Given the description of an element on the screen output the (x, y) to click on. 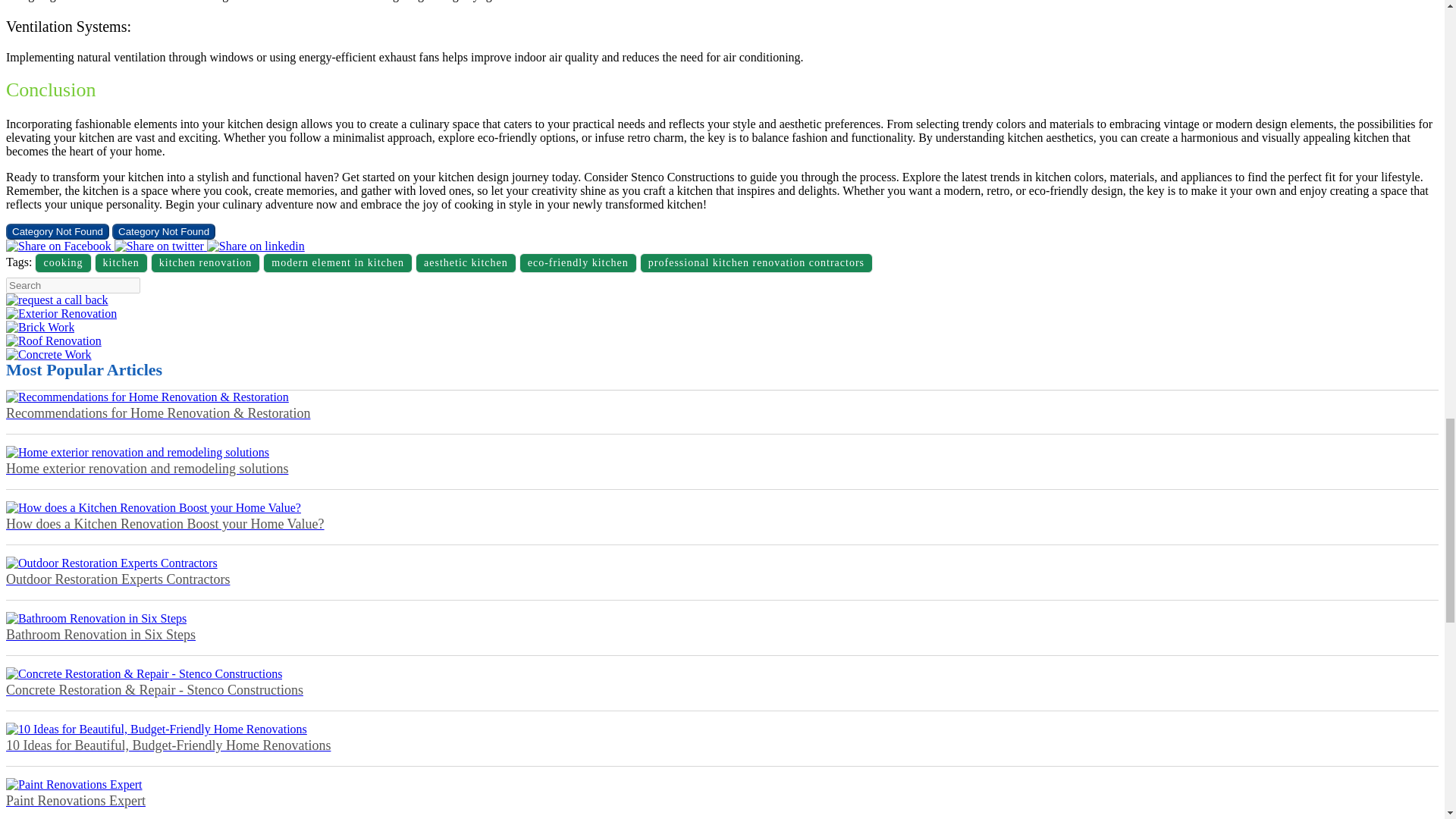
Category Not Found (57, 231)
Brick Work (39, 327)
Share on Facebook (160, 245)
Exterior Renovation (60, 313)
Roof Renovation (53, 340)
professional kitchen renovation contractors (756, 262)
kitchen (121, 262)
Share on Facebook (255, 245)
kitchen renovation (205, 262)
Concrete Work (48, 354)
